Given the description of an element on the screen output the (x, y) to click on. 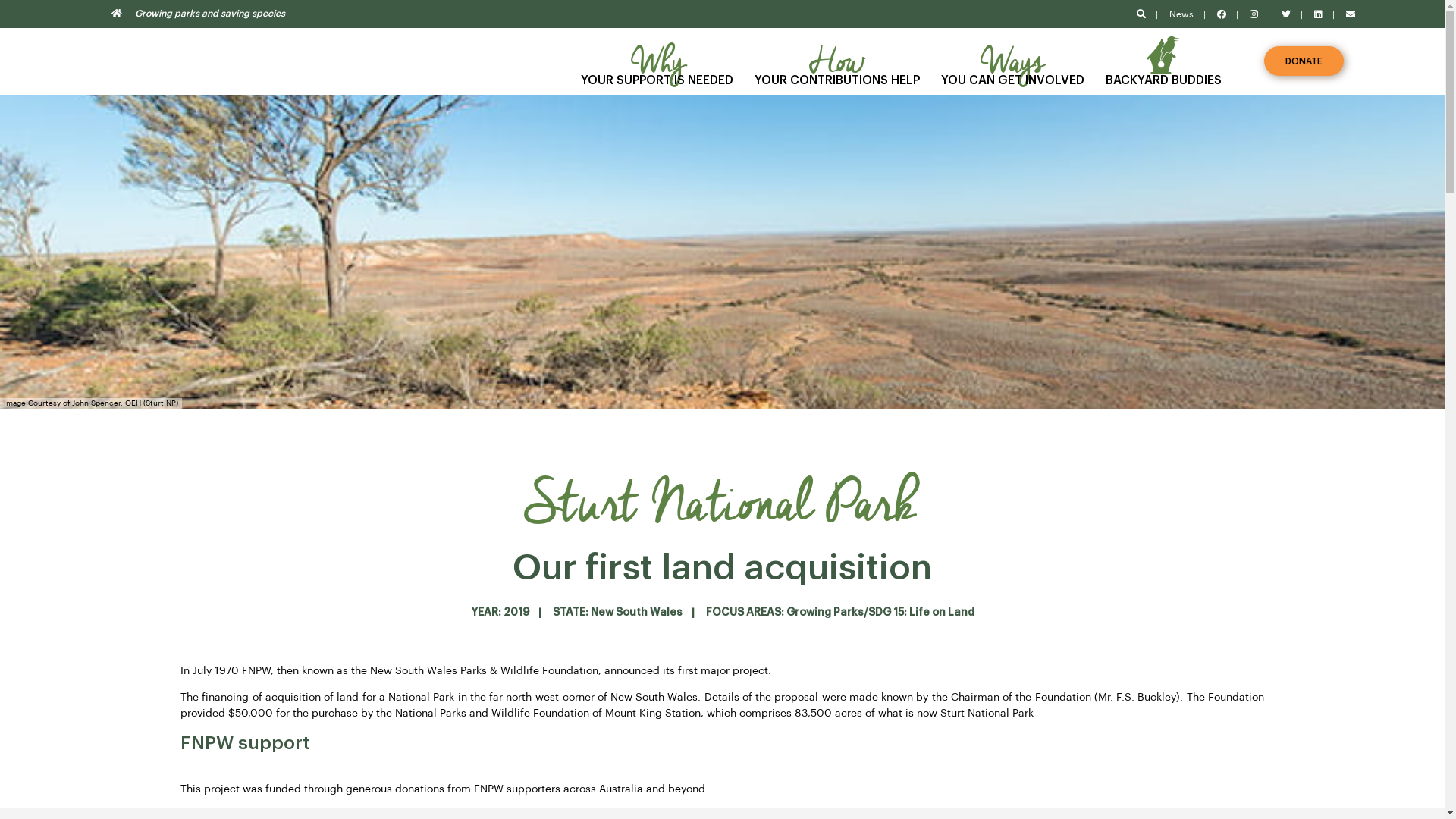
News Element type: text (1181, 13)
How
YOUR CONTRIBUTIONS HELP Element type: text (836, 61)
Email Element type: text (1350, 13)
Search Element type: text (1141, 13)
DONATE Element type: text (1303, 60)
Facebook Element type: text (1221, 13)
Why
YOUR SUPPORT IS NEEDED Element type: text (656, 61)
Instagram Element type: text (1253, 13)
Twitter Element type: text (1285, 13)
BACKYARD BUDDIES Element type: text (1163, 61)
Ways
YOU CAN GET INVOLVED Element type: text (1012, 61)
Linkedin Element type: text (1318, 13)
